Given the description of an element on the screen output the (x, y) to click on. 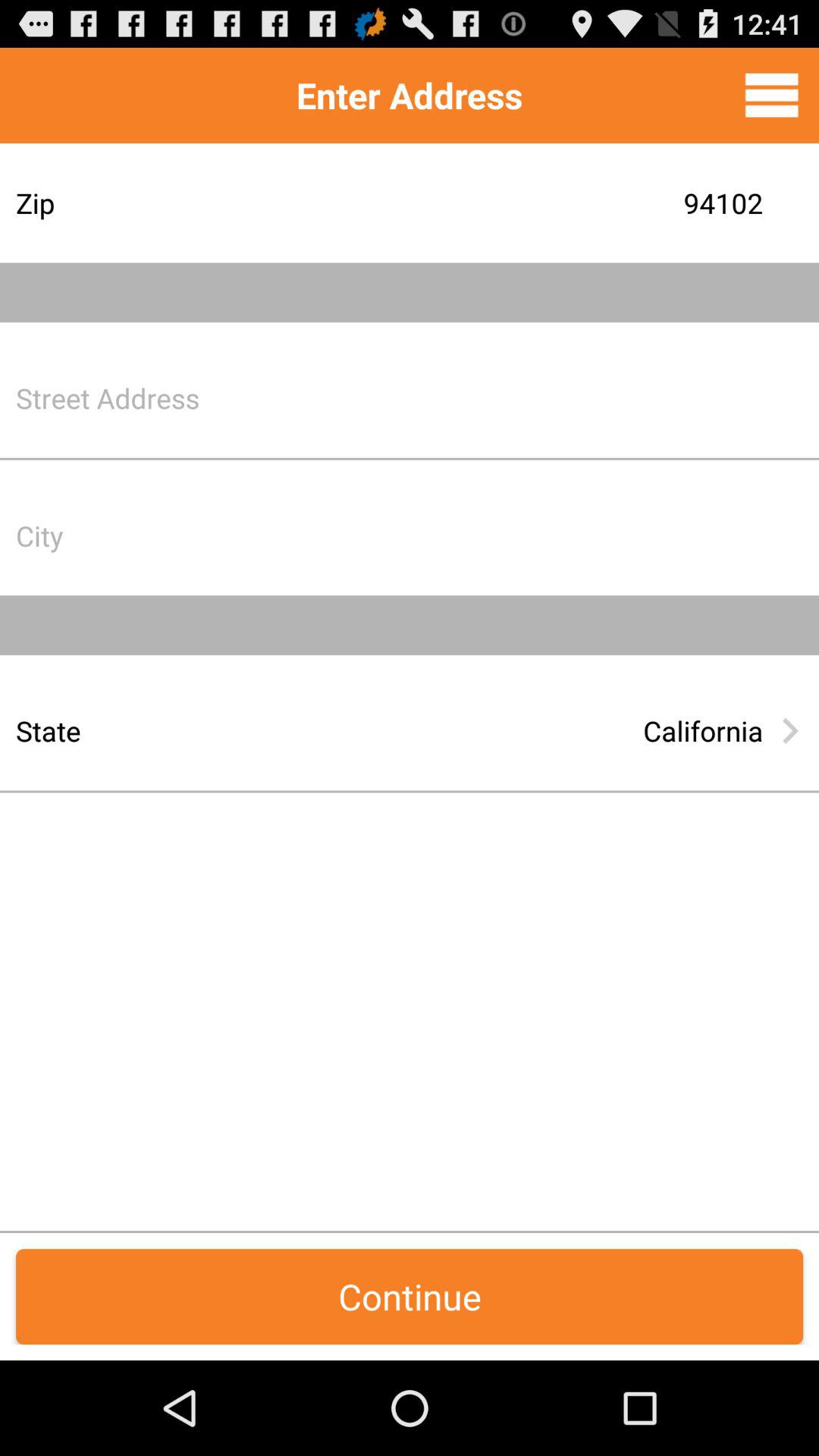
menu (771, 95)
